Given the description of an element on the screen output the (x, y) to click on. 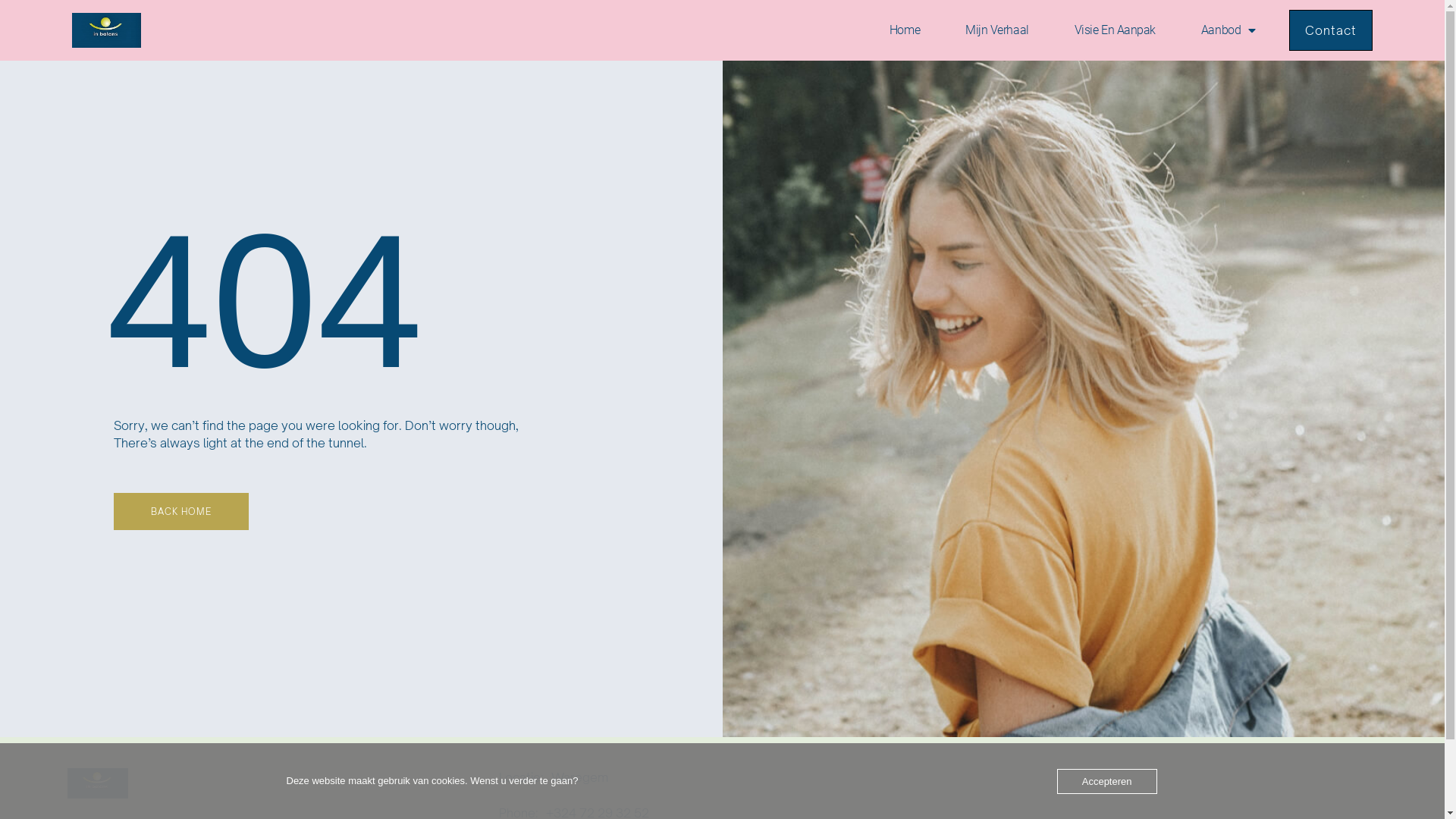
Visie En Aanpak Element type: text (1114, 30)
Contact Element type: text (1330, 29)
Home Element type: text (904, 30)
Mijn Verhaal Element type: text (996, 30)
Accepteren Element type: text (1107, 780)
Aanbod Element type: text (1228, 30)
BACK HOME Element type: text (180, 511)
